Given the description of an element on the screen output the (x, y) to click on. 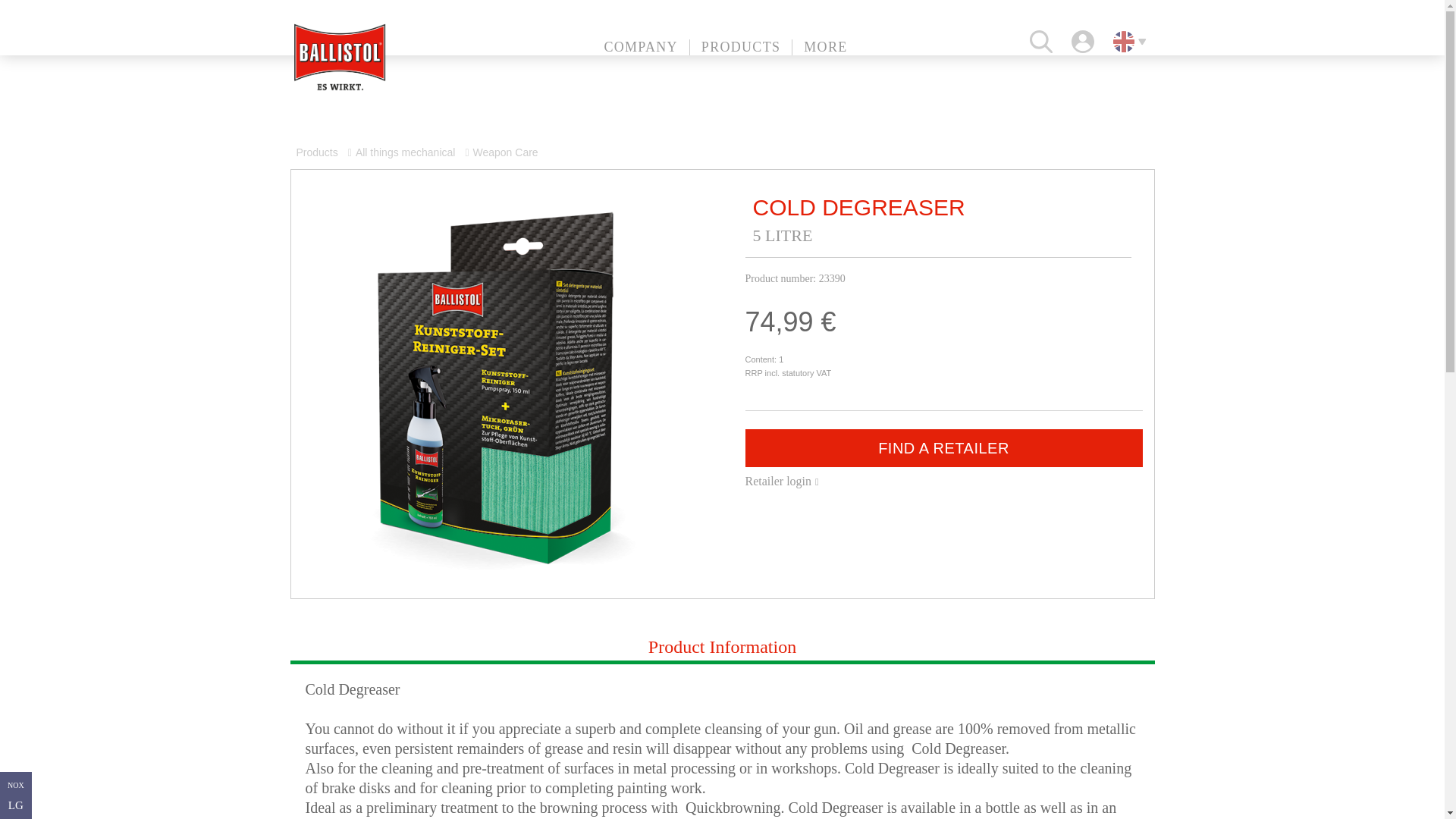
Login (1082, 41)
Ballistol Logo (338, 58)
Current Language (1123, 41)
Open search (1040, 41)
